Given the description of an element on the screen output the (x, y) to click on. 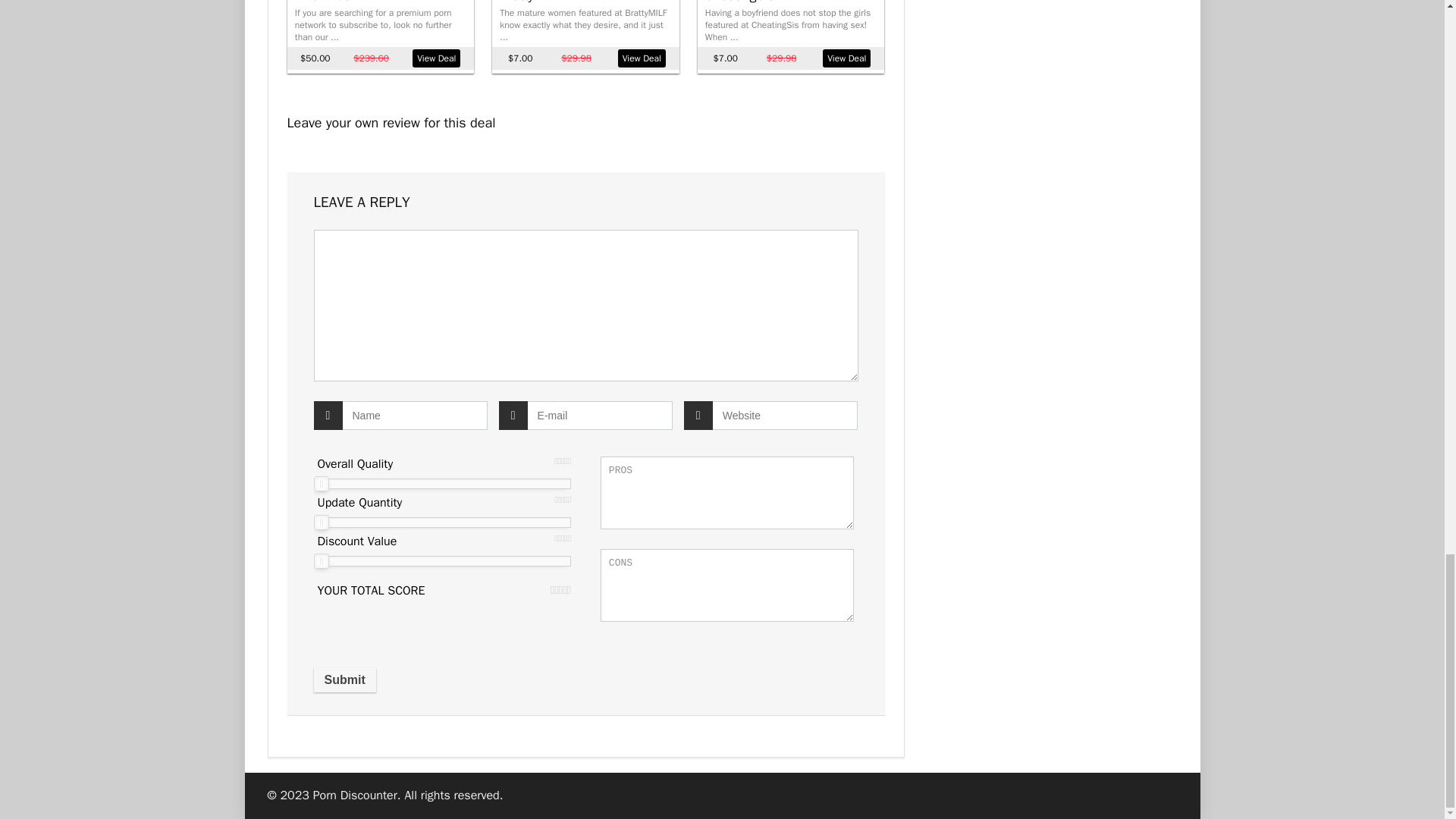
View Deal (846, 58)
Submit (344, 680)
View Deal (436, 58)
BrattyMILF (529, 2)
VixenPlus (322, 2)
Submit (344, 680)
View Deal (641, 58)
CheatingSis (739, 2)
